Given the description of an element on the screen output the (x, y) to click on. 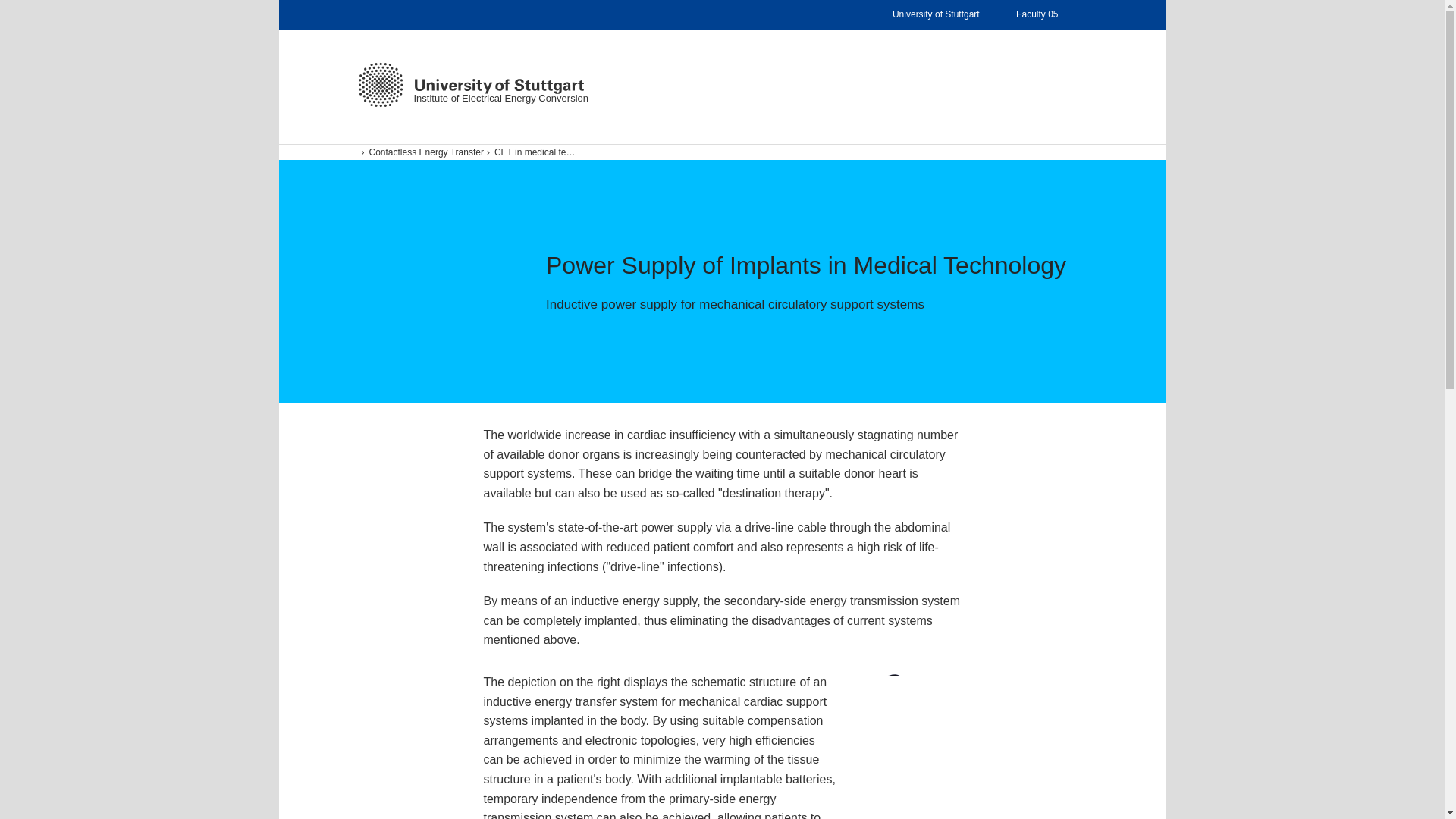
search (1049, 177)
University of Stuttgart (947, 15)
Main navigation (1070, 84)
Search (1035, 84)
Institute of Electrical Energy Conversion (470, 84)
Contactless Energy Transfer (422, 151)
CET in medical technology (530, 151)
CET in medical technology (722, 151)
Contactless Energy Transfer (532, 151)
Faculty 05 (420, 151)
